Given the description of an element on the screen output the (x, y) to click on. 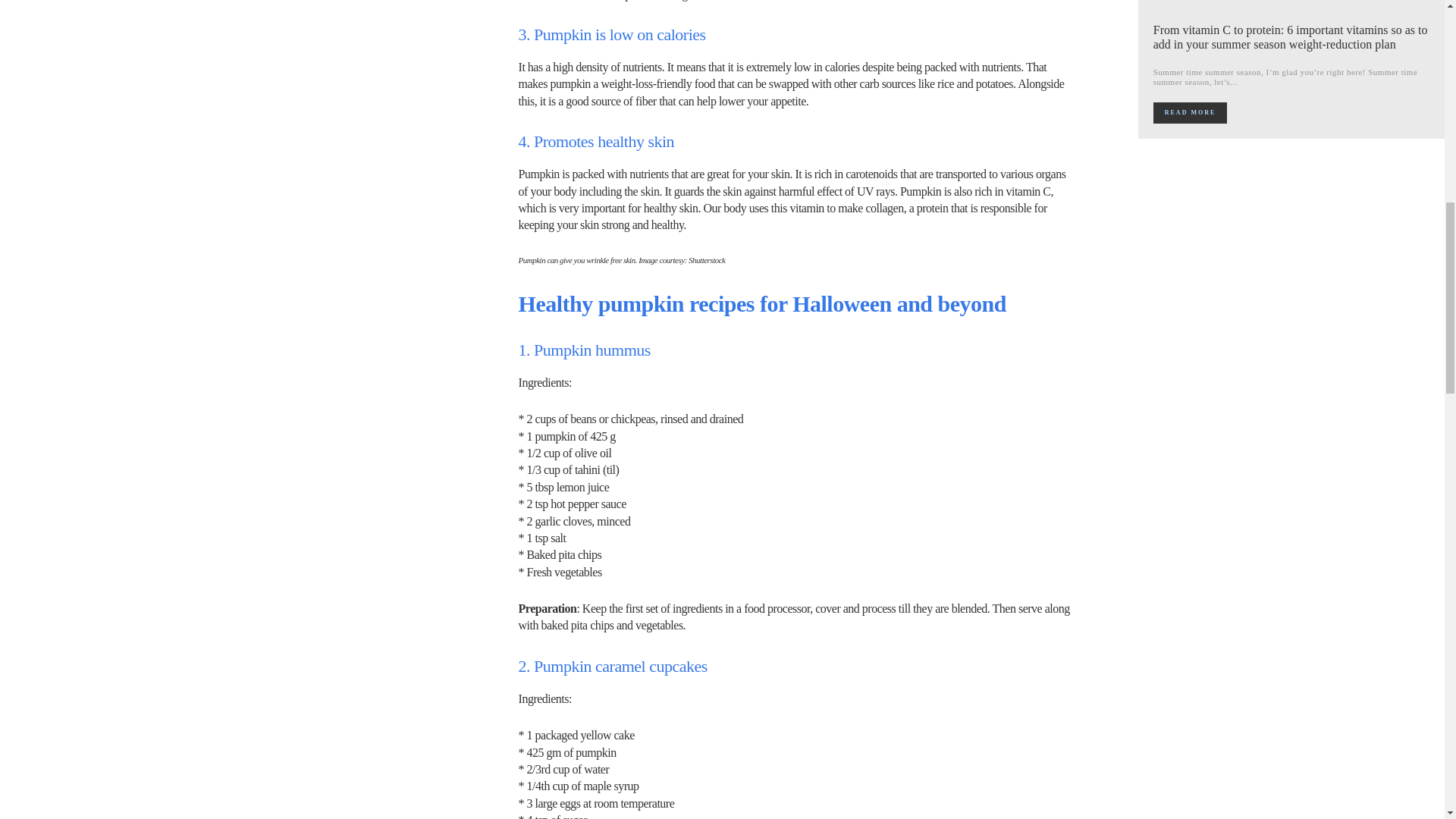
READ MORE (1190, 112)
